Given the description of an element on the screen output the (x, y) to click on. 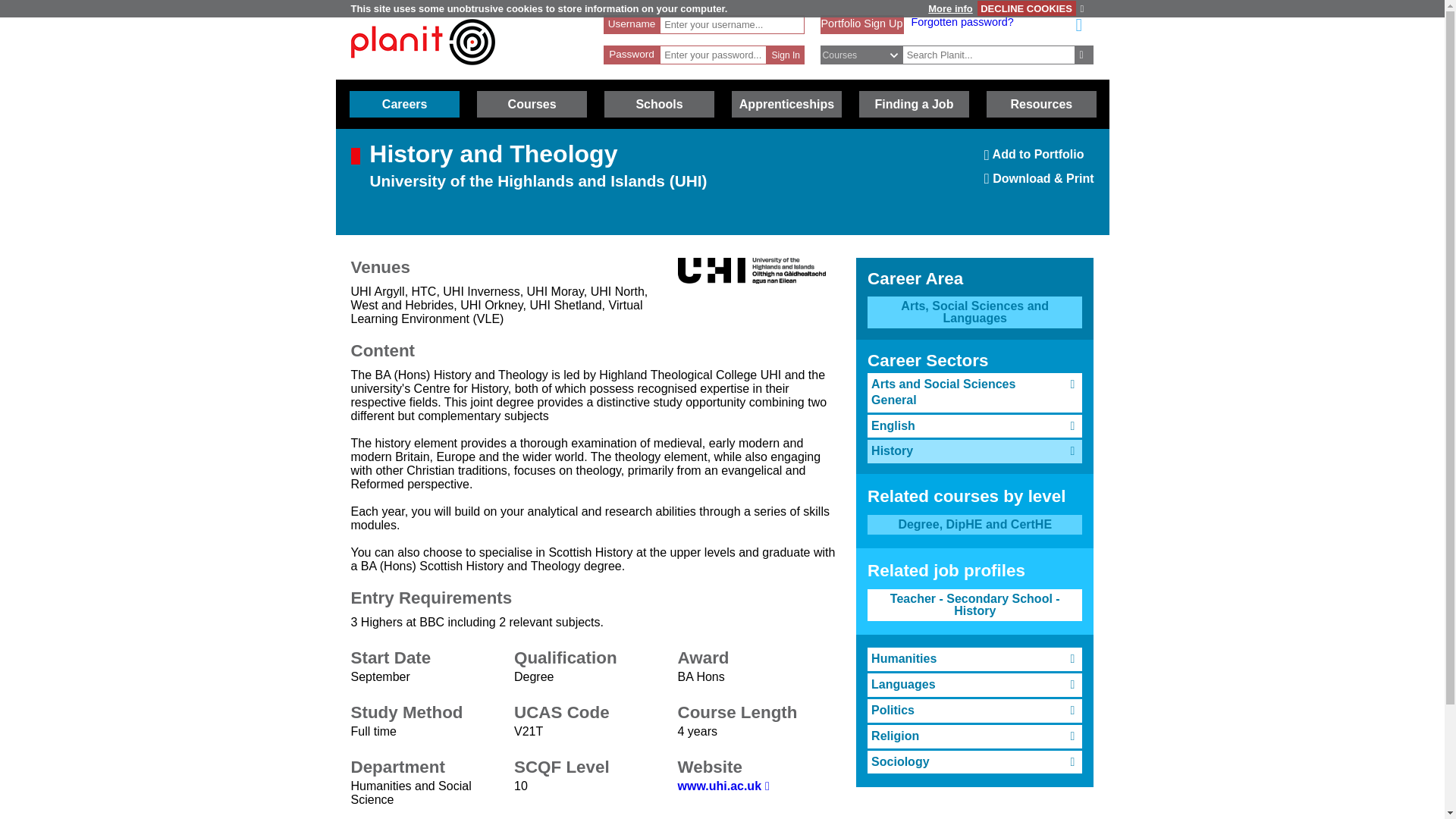
Search (1084, 54)
Sign In (786, 54)
Sign In (786, 54)
Arts, Social Sciences and Languages (974, 312)
Portfolio Sign Up (861, 23)
Forgotten password? (962, 21)
DECLINE COOKIES (1025, 7)
Courses (531, 103)
Careers (404, 103)
